Given the description of an element on the screen output the (x, y) to click on. 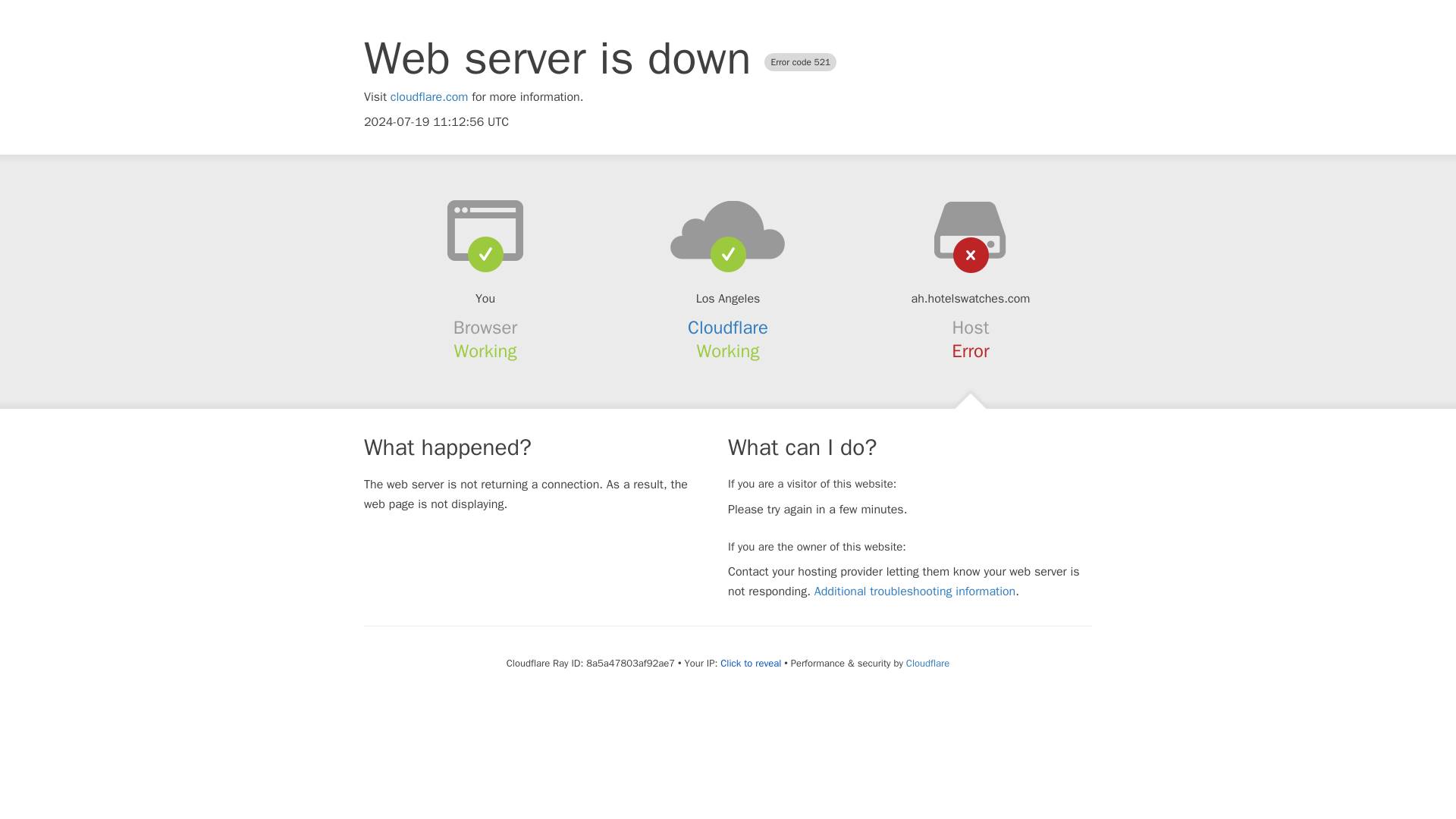
cloudflare.com (429, 96)
Additional troubleshooting information (913, 590)
Cloudflare (727, 327)
Cloudflare (927, 662)
Click to reveal (750, 663)
